Given the description of an element on the screen output the (x, y) to click on. 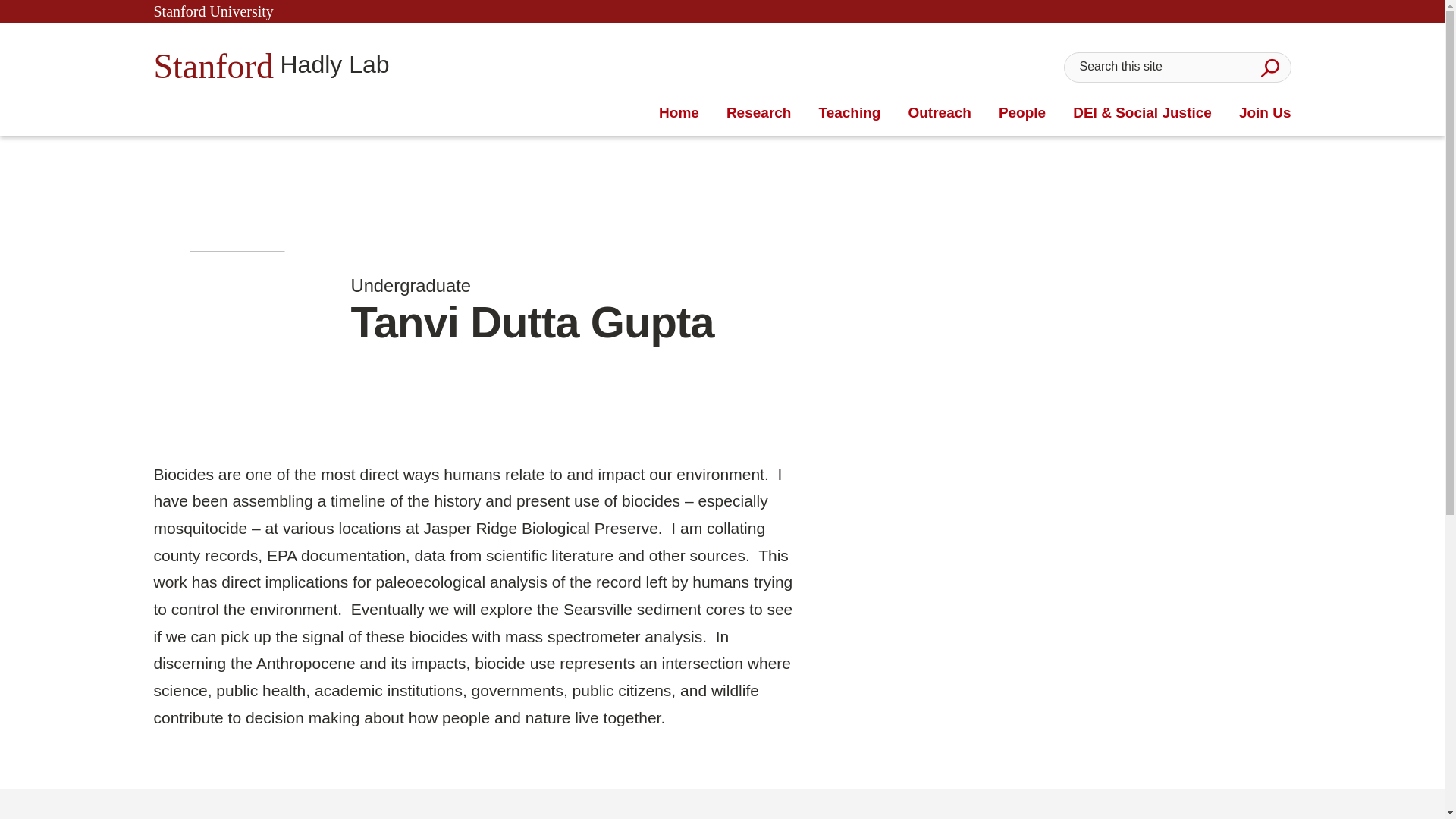
People (1021, 112)
Teaching (849, 112)
Hadly Lab homepage (678, 112)
Research (270, 61)
Submit Search (759, 112)
Join Us (1269, 67)
Outreach (1265, 112)
Skip to main content (939, 112)
Home (759, 112)
